Given the description of an element on the screen output the (x, y) to click on. 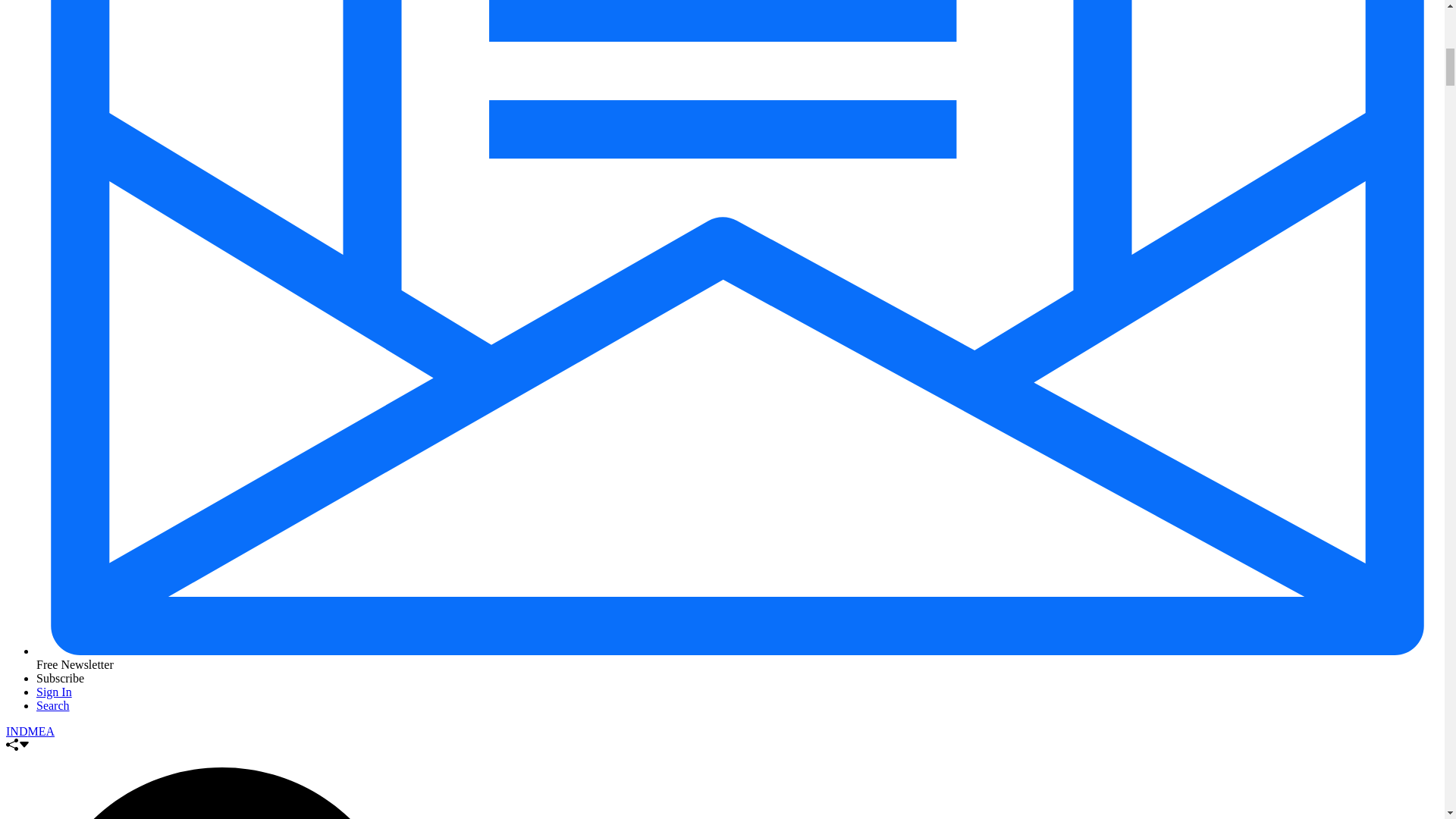
Sign In (53, 691)
MEA (41, 730)
IND (16, 730)
Subscribe (60, 677)
Search (52, 705)
